Given the description of an element on the screen output the (x, y) to click on. 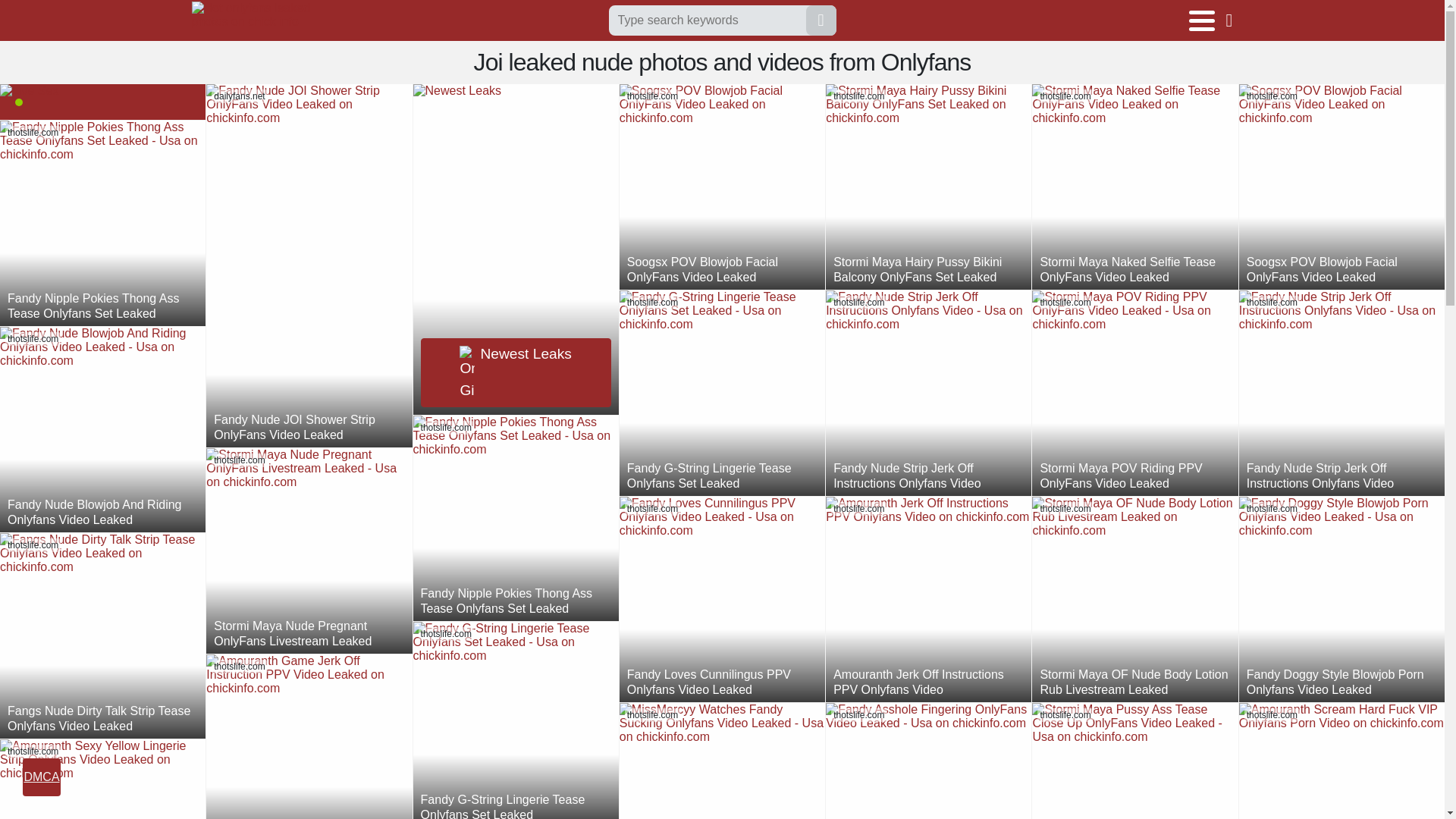
DARK MODE (1234, 20)
